Given the description of an element on the screen output the (x, y) to click on. 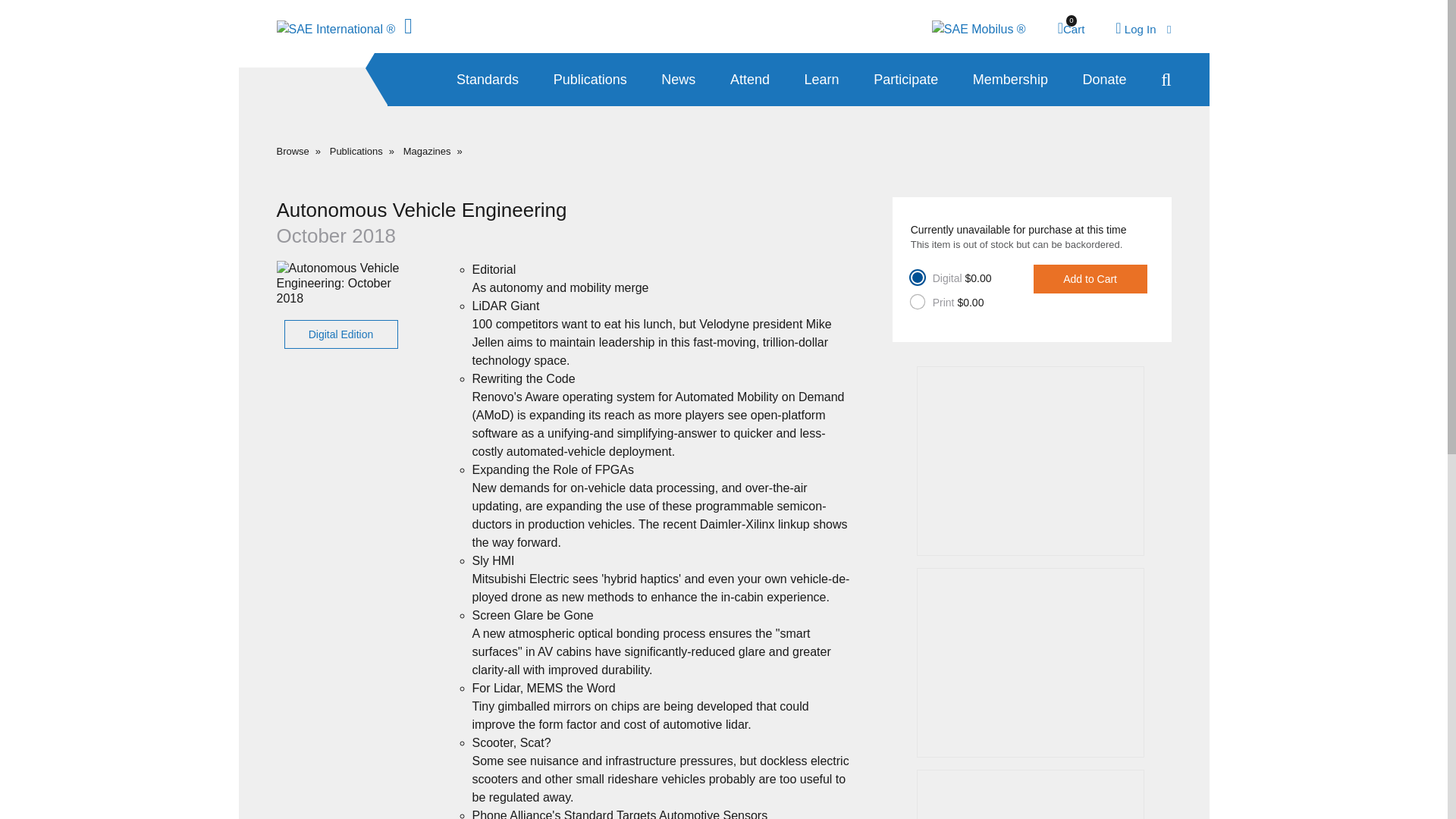
 Log In (1142, 29)
Standards (487, 79)
Publications (1071, 28)
